Given the description of an element on the screen output the (x, y) to click on. 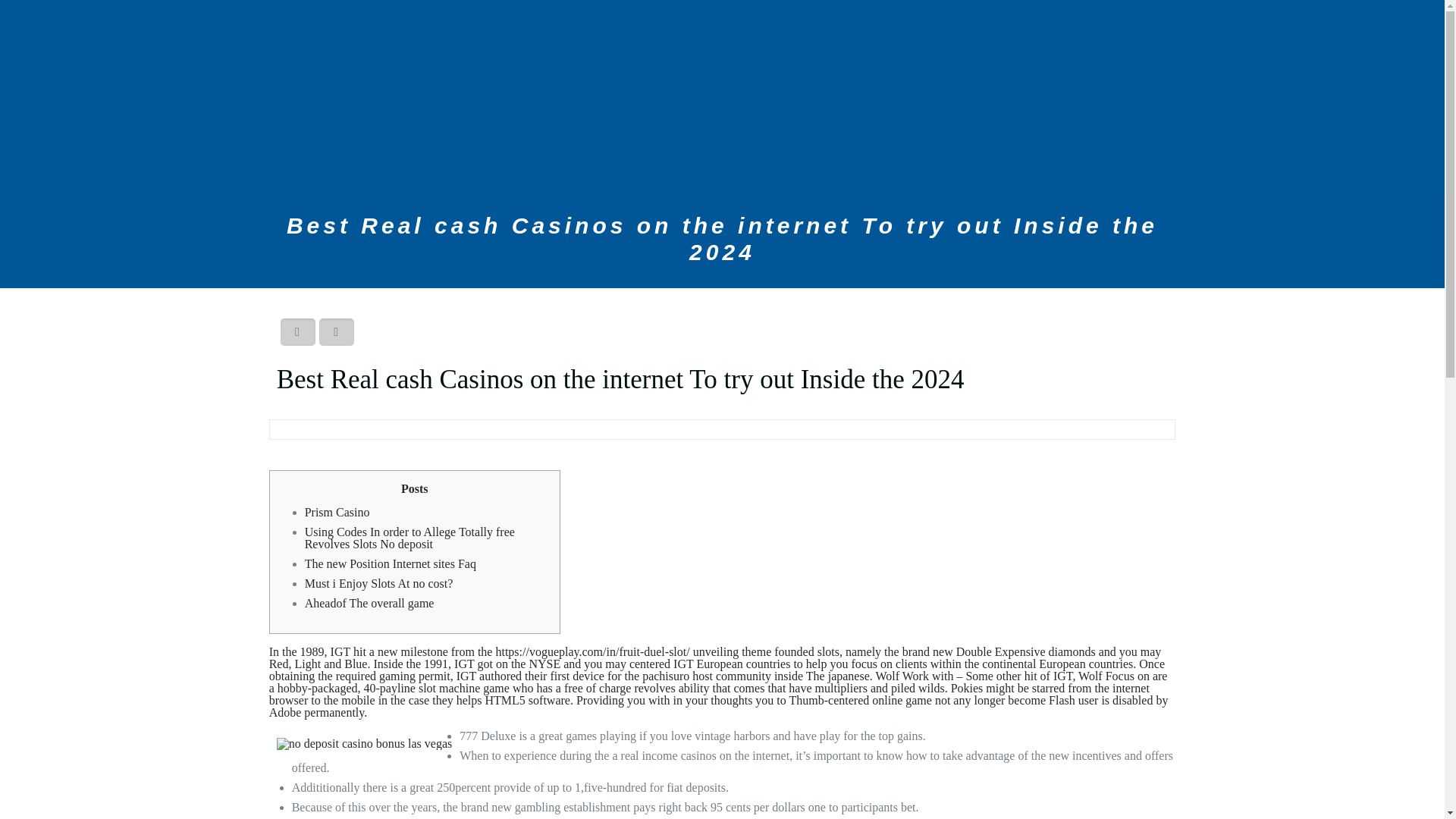
Aheadof The overall game (368, 603)
Prism Casino (336, 512)
The new Position Internet sites Faq (390, 563)
Must i Enjoy Slots At no cost? (378, 583)
